Given the description of an element on the screen output the (x, y) to click on. 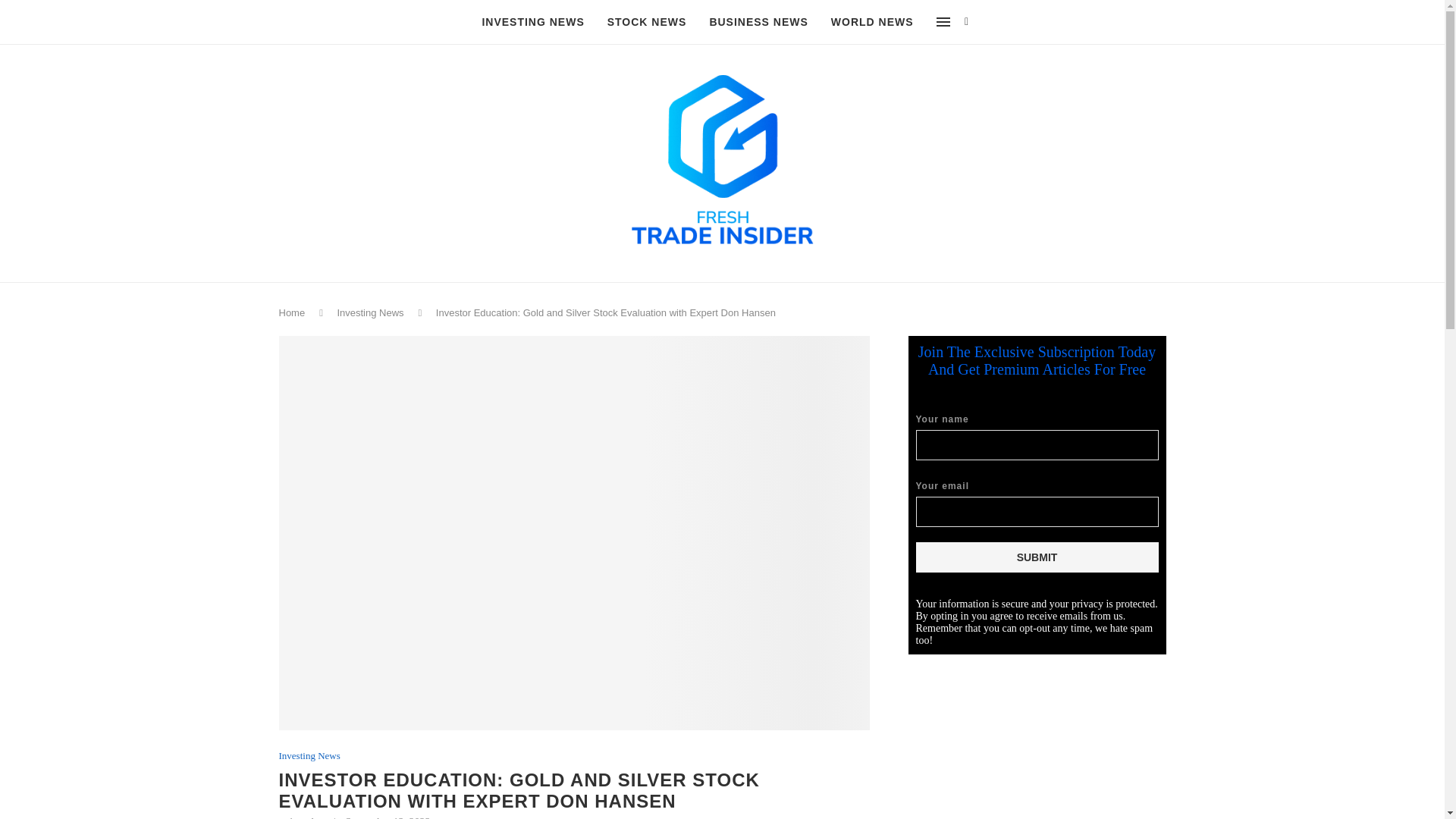
Investing News (309, 756)
WORLD NEWS (871, 22)
Submit (1036, 557)
BUSINESS NEWS (757, 22)
Home (292, 312)
INVESTING NEWS (532, 22)
Submit (1036, 557)
STOCK NEWS (646, 22)
Investing News (369, 312)
